Given the description of an element on the screen output the (x, y) to click on. 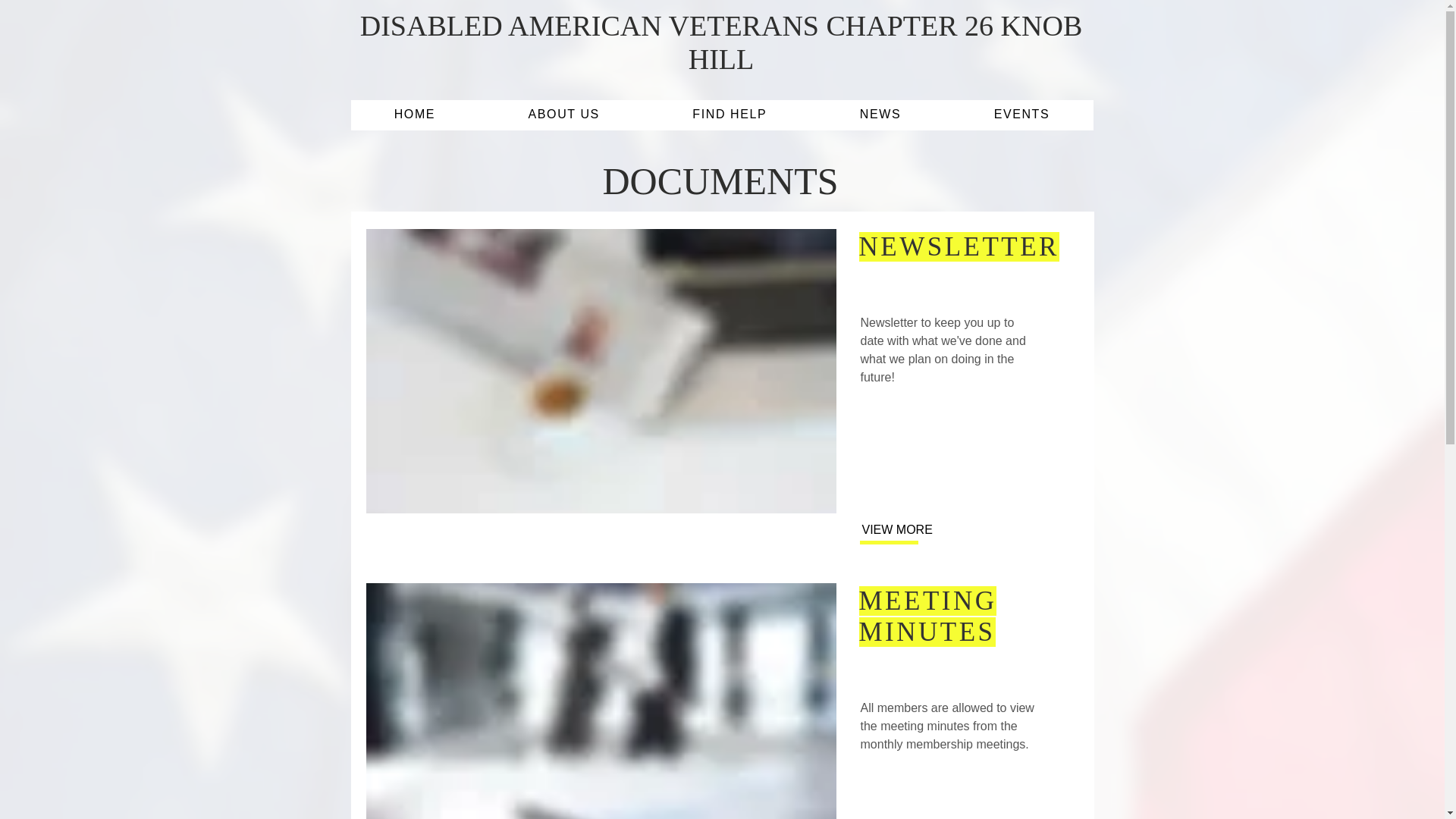
EVENTS (1021, 114)
HOME (414, 114)
NEWS (880, 114)
ABOUT US (563, 114)
FIND HELP (729, 114)
